Given the description of an element on the screen output the (x, y) to click on. 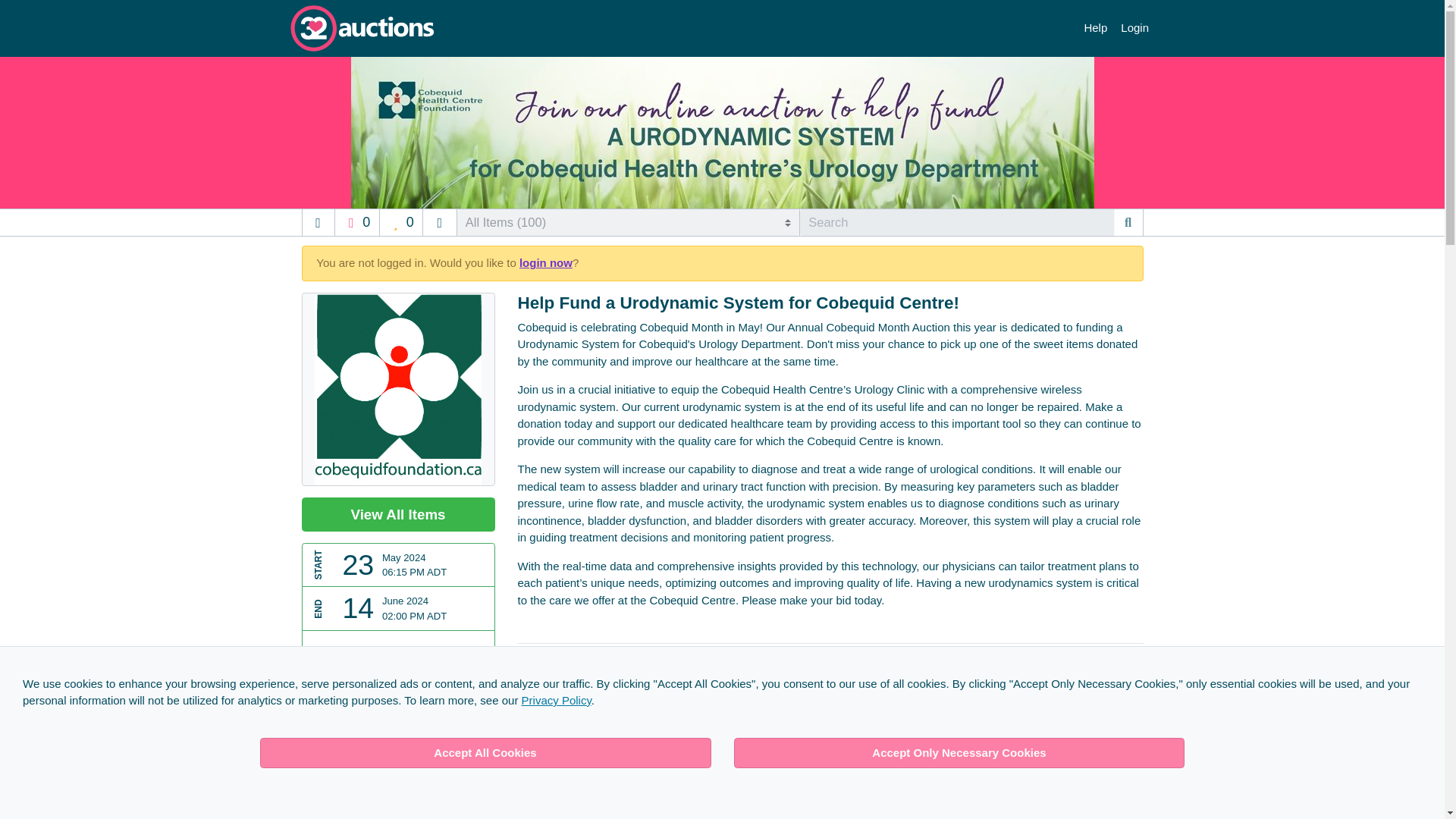
Accept All Cookies (485, 752)
0 (401, 222)
login now (545, 262)
Accept Only Necessary Cookies (959, 752)
Auction Home (317, 222)
0 (356, 222)
Login (1134, 28)
Item List (440, 222)
View All Items (398, 514)
Search (1127, 222)
